Given the description of an element on the screen output the (x, y) to click on. 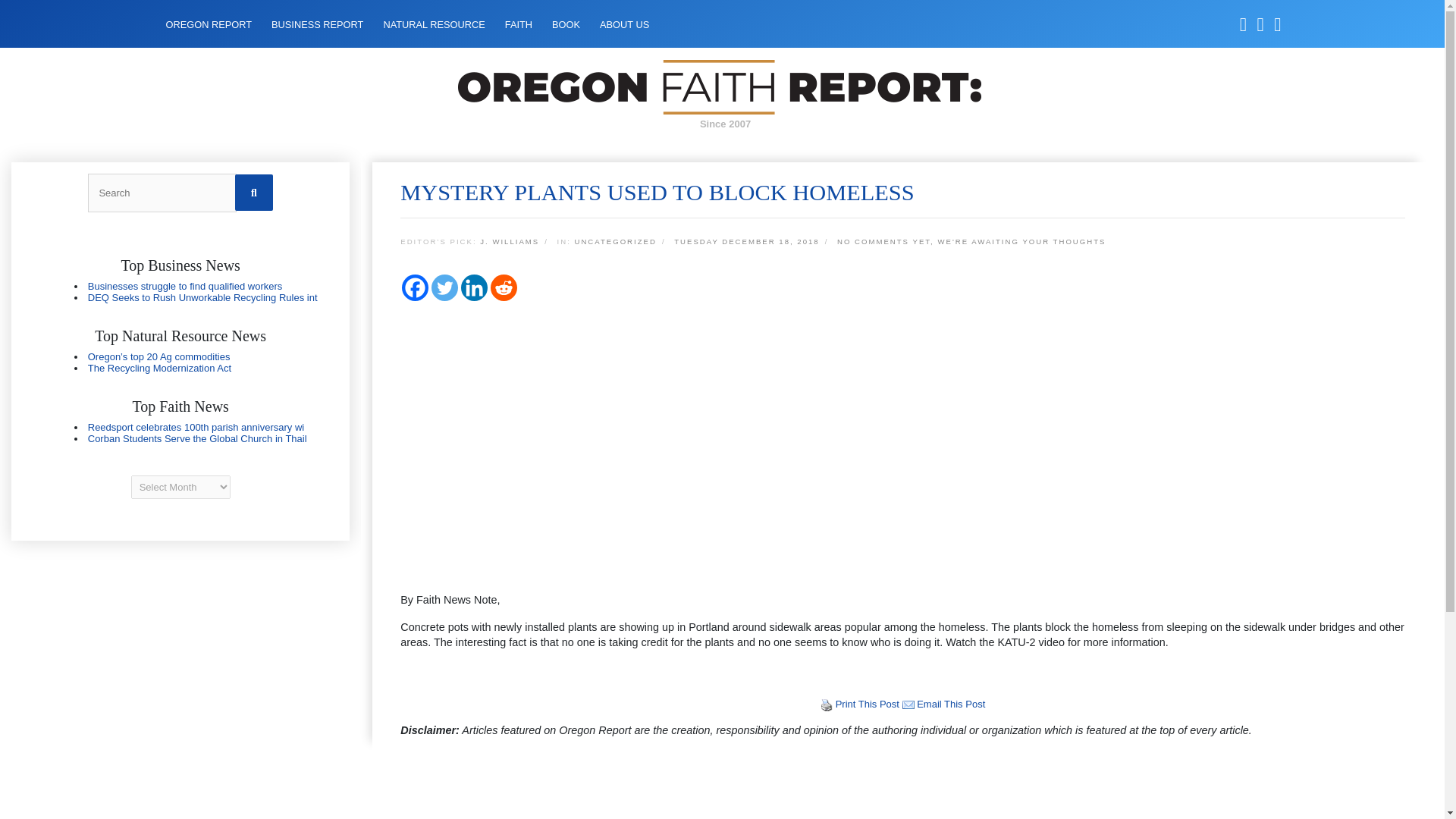
DEQ Seeks to Rush Unworkable Recycling Rules int (202, 297)
Print This Post (867, 704)
Reddit (503, 287)
FAITH (518, 24)
The Recycling Modernization Act (159, 367)
ABOUT US (624, 24)
NATURAL RESOURCE (433, 24)
Print This Post (867, 704)
The Recycling Modernization Act (159, 367)
Facebook (414, 287)
Linkedin (474, 287)
Twitter (444, 287)
Print This Post (826, 705)
Reedsport celebrates 100th parish anniversary wi (195, 427)
OREGON REPORT (207, 24)
